Given the description of an element on the screen output the (x, y) to click on. 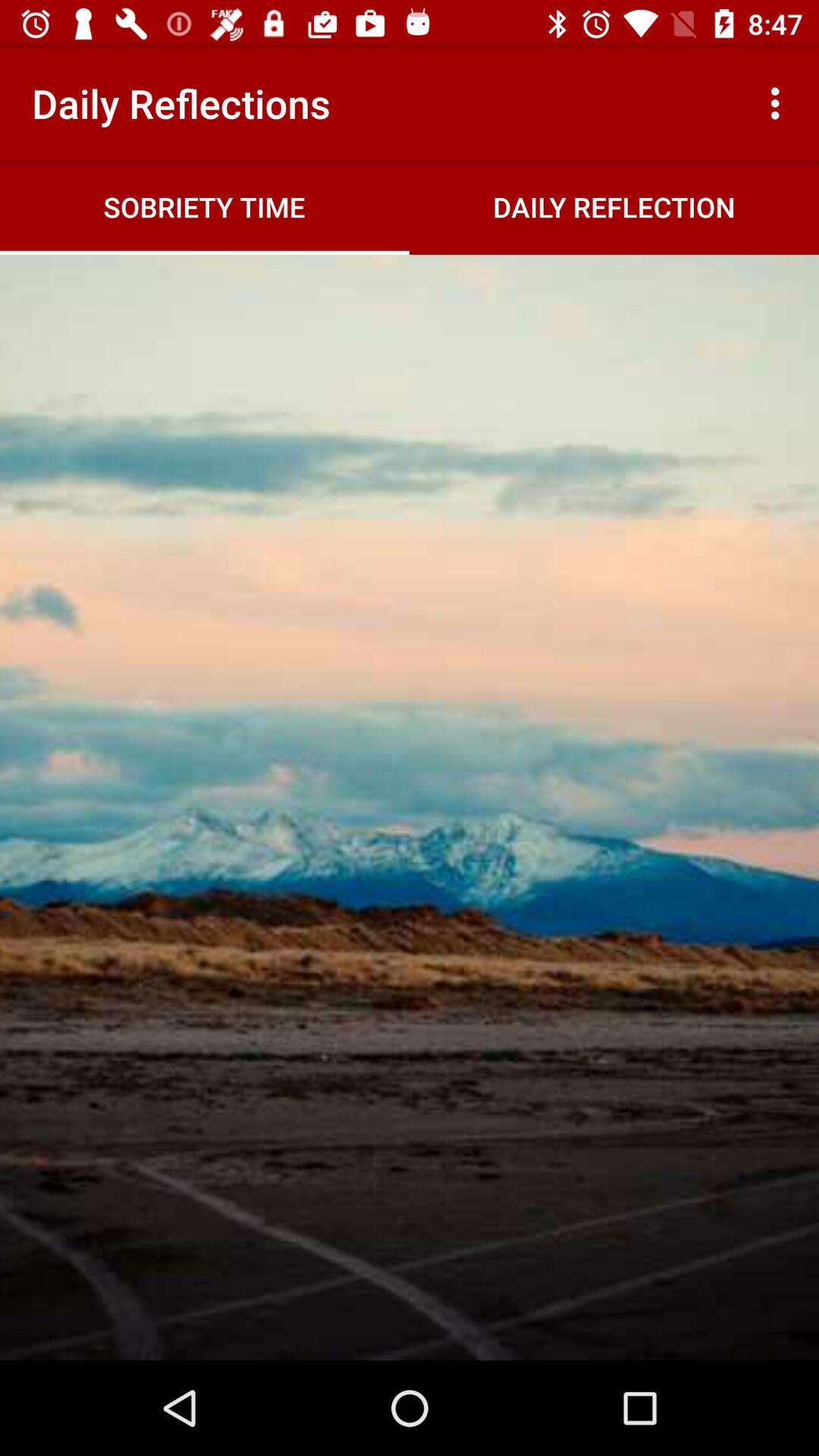
select the app to the right of the daily reflections item (779, 103)
